Given the description of an element on the screen output the (x, y) to click on. 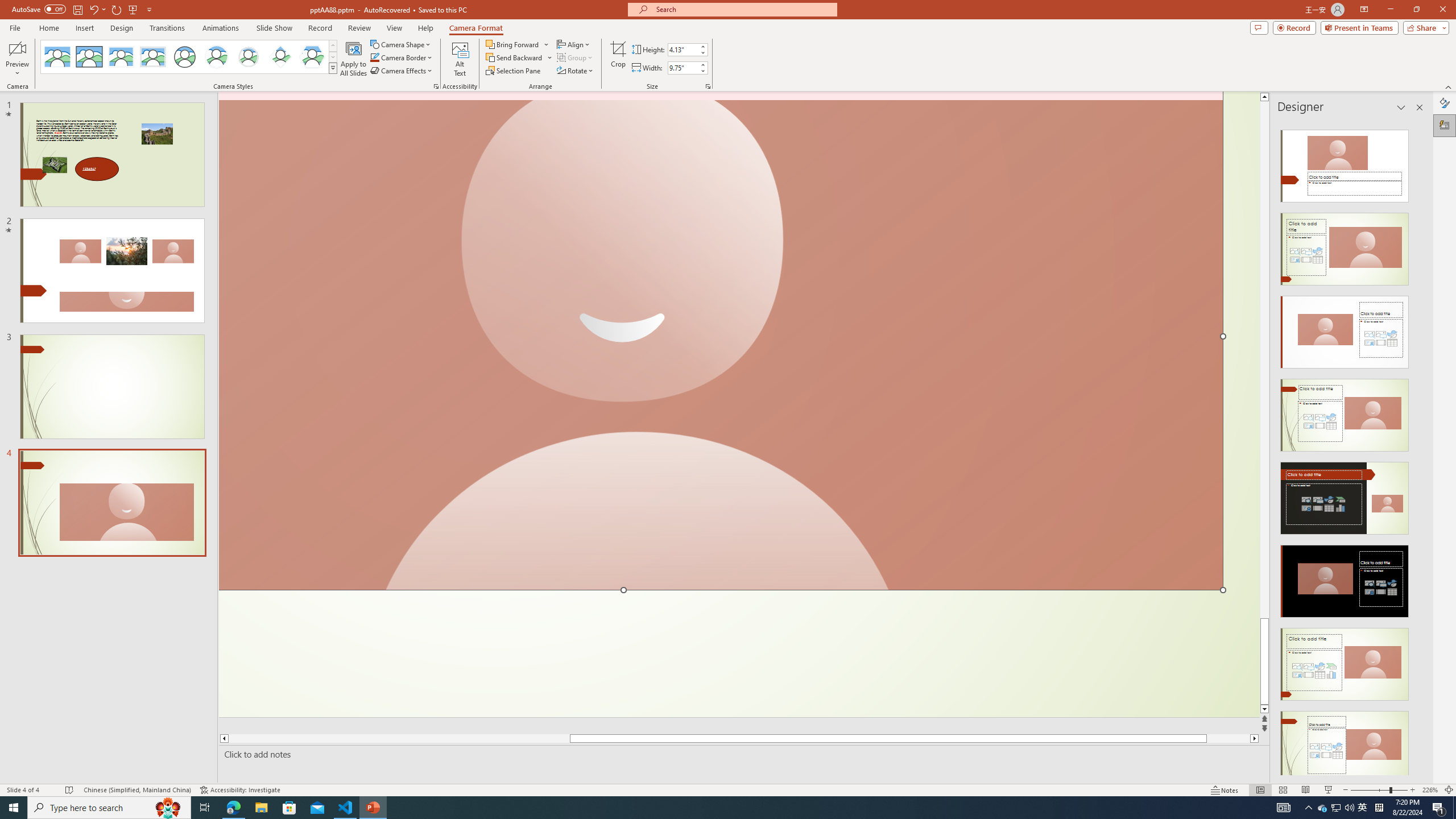
Camera Shape (400, 44)
Align (574, 44)
Cameo Height (682, 49)
No Style (57, 56)
Soft Edge Rectangle (152, 56)
Camera Effects (402, 69)
Recommended Design: Design Idea (1344, 162)
Soft Edge Circle (248, 56)
